Given the description of an element on the screen output the (x, y) to click on. 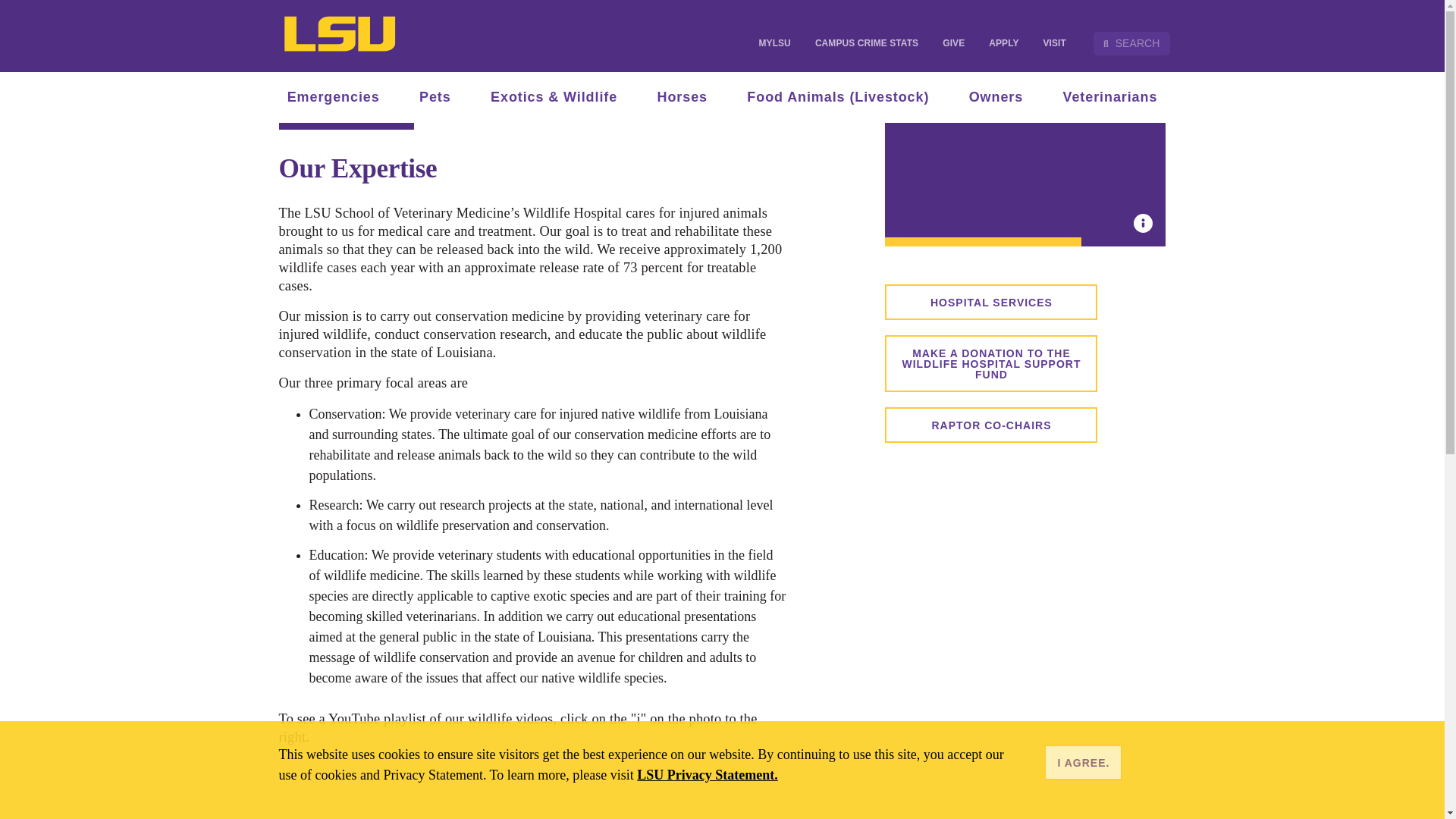
MYLSU (773, 43)
Visit giveLSU.org (953, 43)
Pets (434, 97)
GIVE (953, 43)
SEARCH (1131, 43)
APPLY (1003, 43)
leaving lsu.edu (991, 363)
CAMPUS CRIME STATS (866, 43)
VISIT (1054, 43)
Emergencies (332, 97)
